Given the description of an element on the screen output the (x, y) to click on. 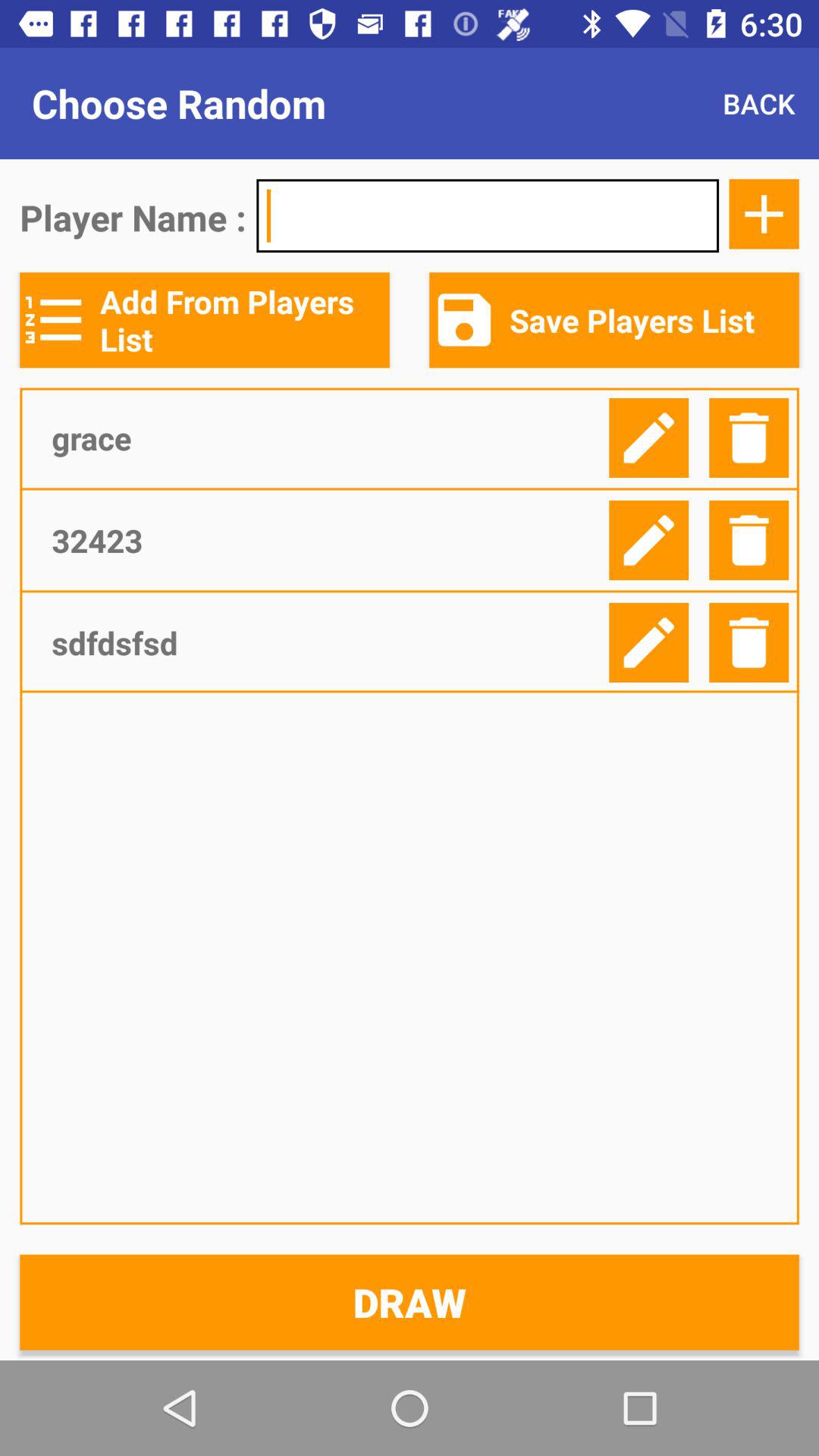
turn on the item above the sdfdsfsd (324, 539)
